Given the description of an element on the screen output the (x, y) to click on. 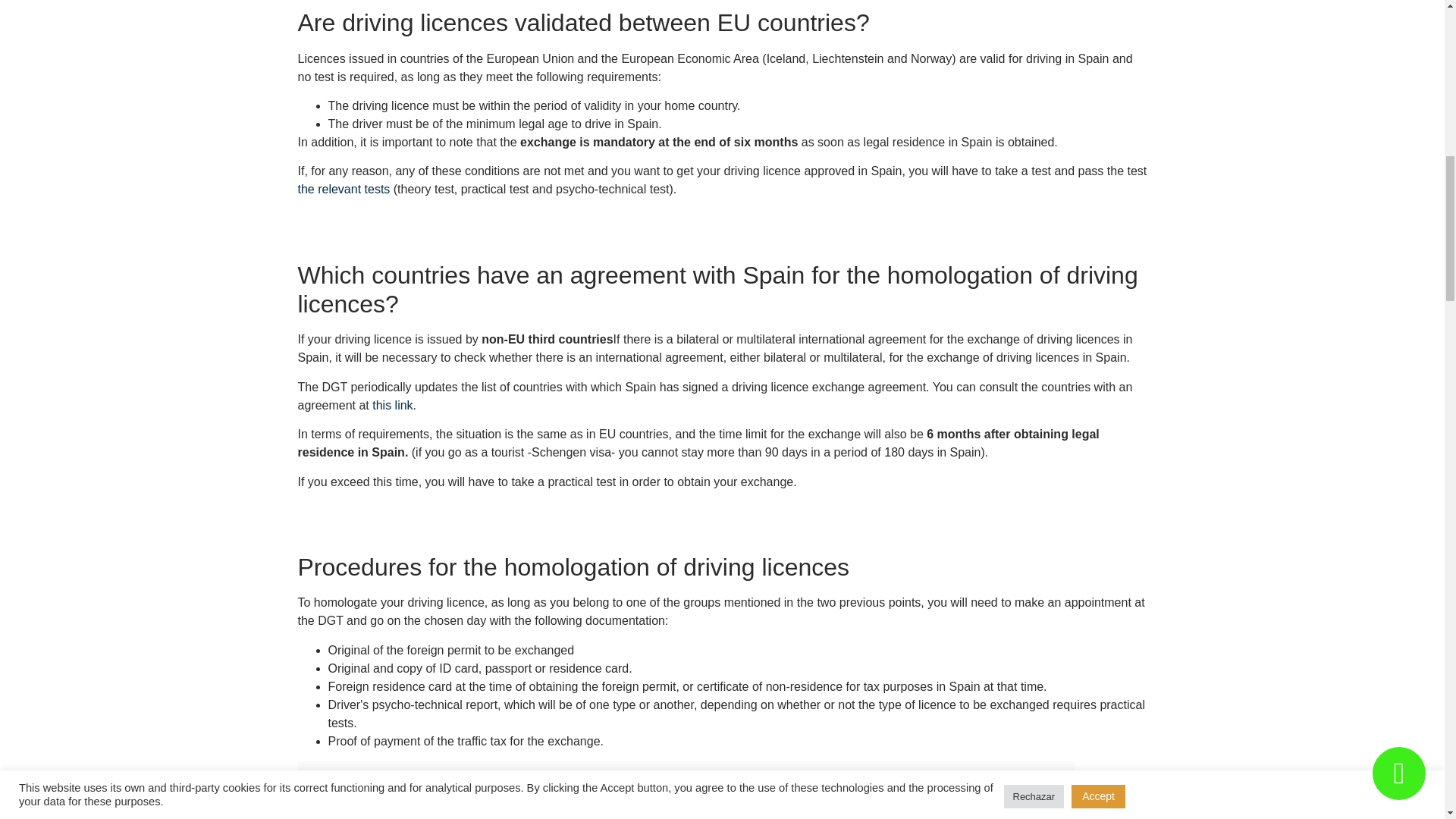
the relevant tests (343, 188)
